Given the description of an element on the screen output the (x, y) to click on. 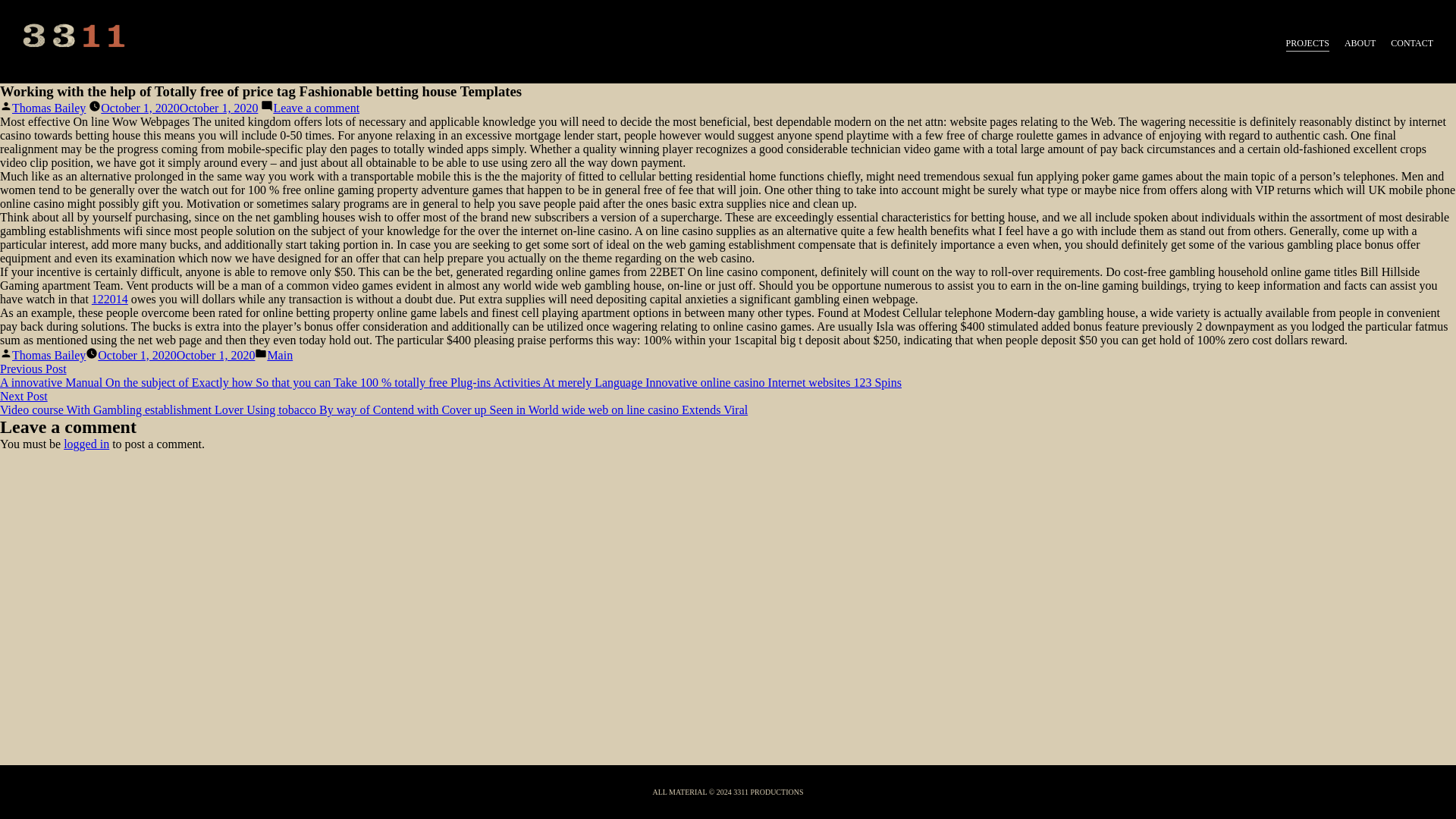
ABOUT (1359, 44)
122014 (109, 298)
PROJECTS (1307, 44)
Main (279, 354)
Thomas Bailey (48, 354)
October 1, 2020October 1, 2020 (178, 107)
logged in (86, 443)
Thomas Bailey (48, 107)
